Given the description of an element on the screen output the (x, y) to click on. 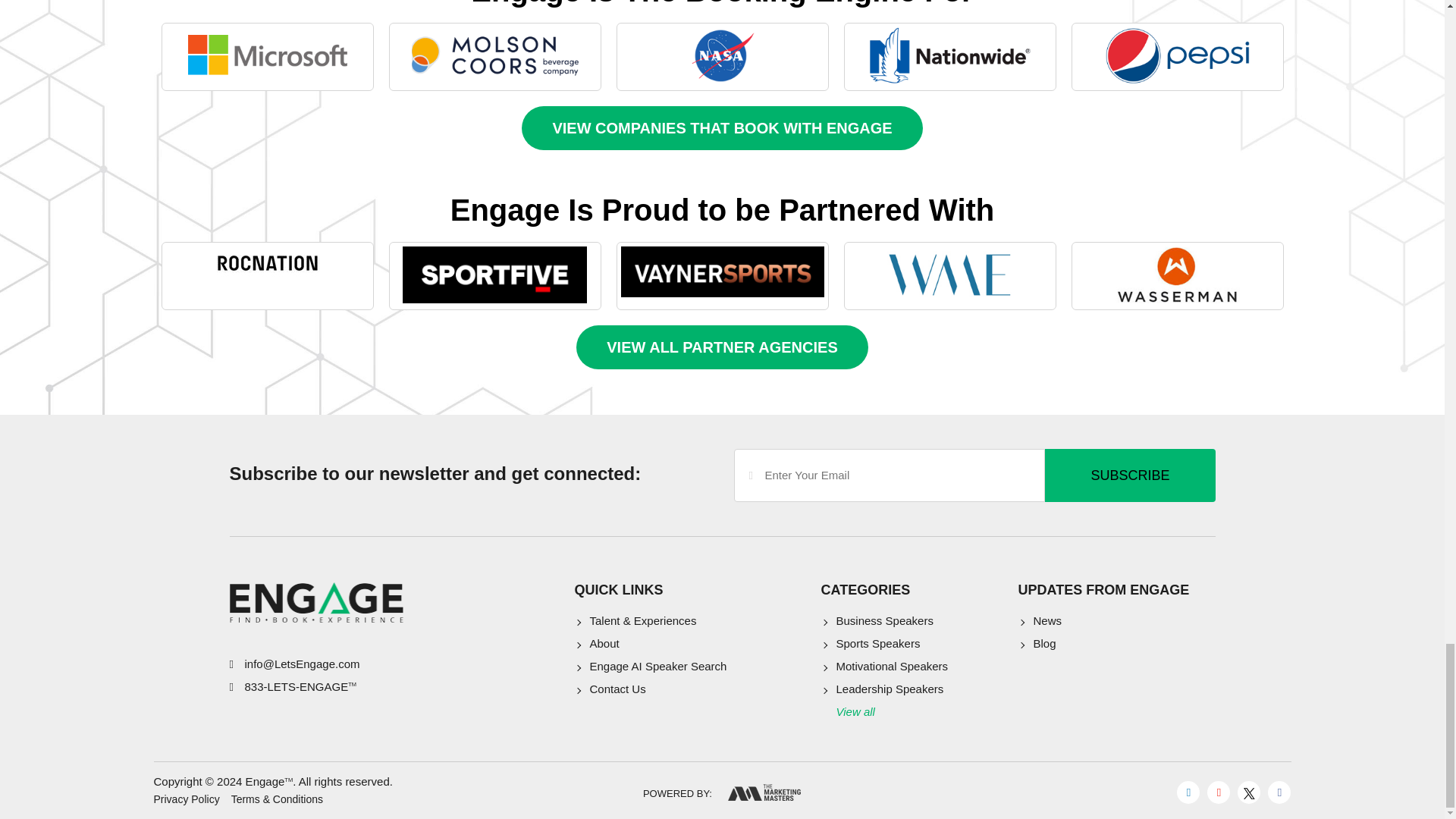
Subscribe (1129, 475)
